Given the description of an element on the screen output the (x, y) to click on. 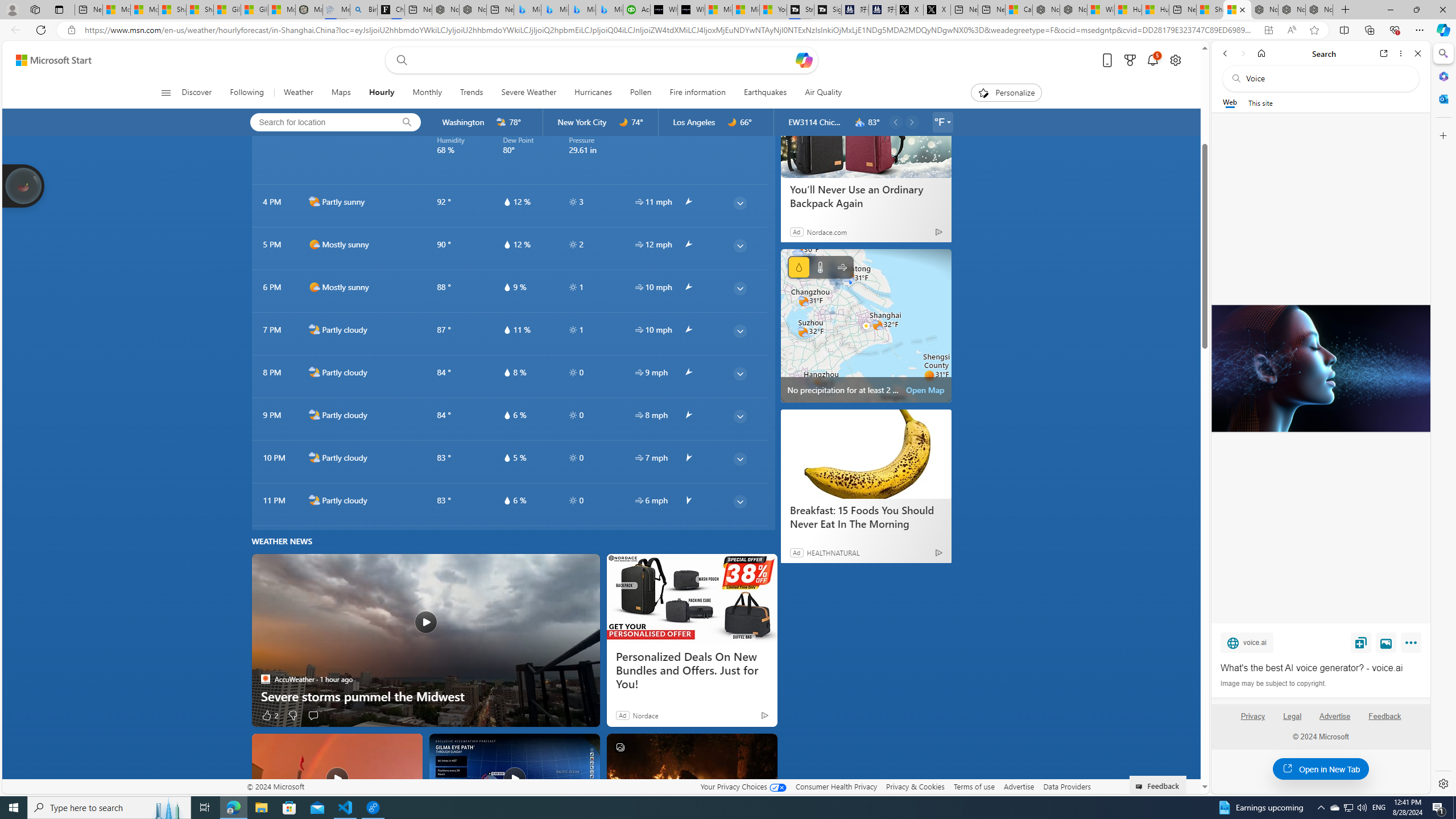
Save (1361, 642)
common/carouselChevron (912, 121)
View image (1385, 642)
n3200 (860, 121)
Open link in new tab (1383, 53)
Maps (340, 92)
HEALTHNATURAL (832, 552)
Hourly (381, 92)
